Given the description of an element on the screen output the (x, y) to click on. 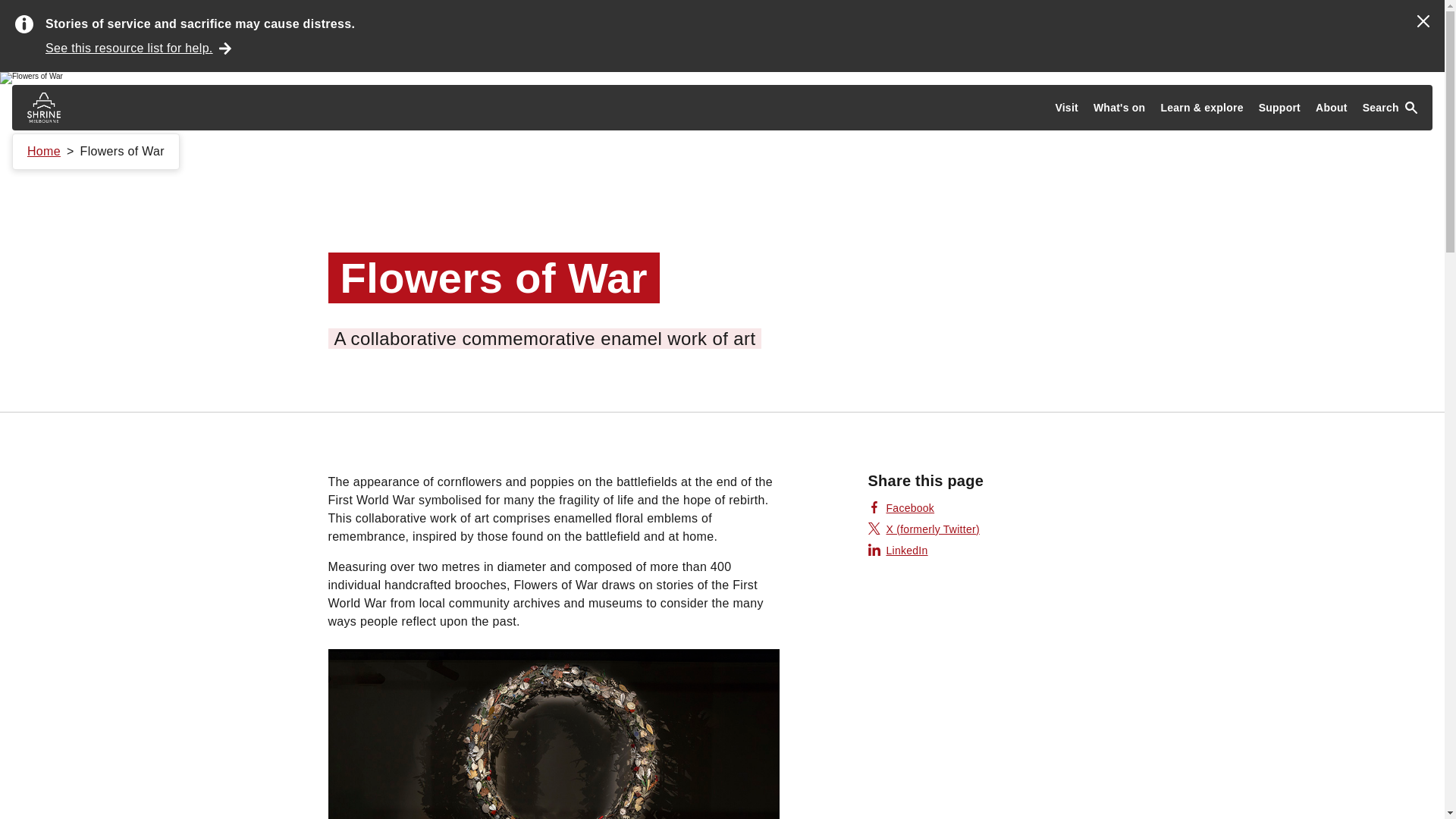
See this resource list for help. (138, 48)
What's on (1119, 107)
LinkedIn (897, 549)
Facebook (900, 507)
Support (1278, 107)
About (1331, 107)
Home (44, 151)
